Given the description of an element on the screen output the (x, y) to click on. 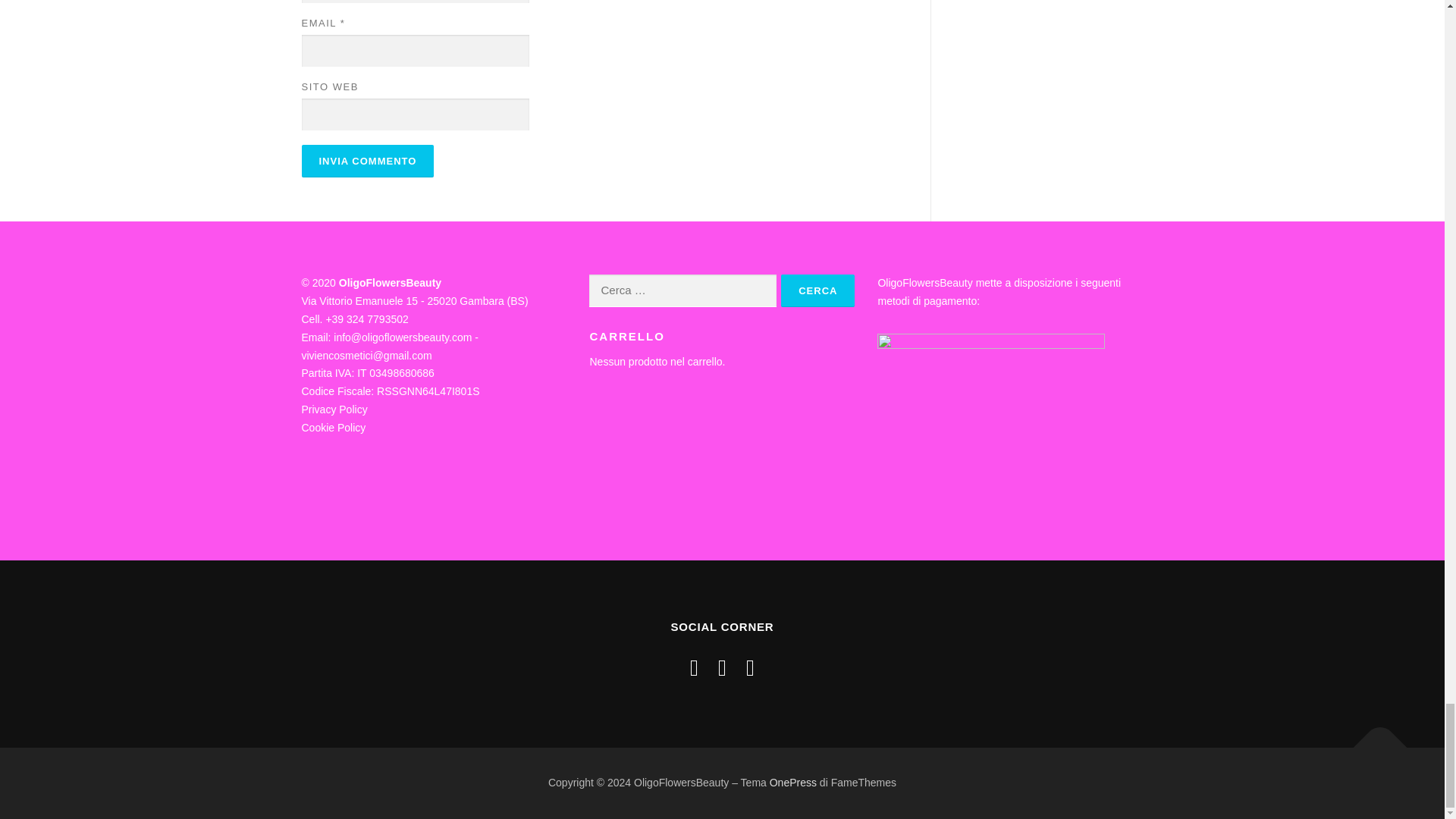
Torna in alto (1372, 740)
Cerca (817, 290)
Invia commento (367, 160)
Privacy Policy (334, 409)
Cerca (817, 290)
